Given the description of an element on the screen output the (x, y) to click on. 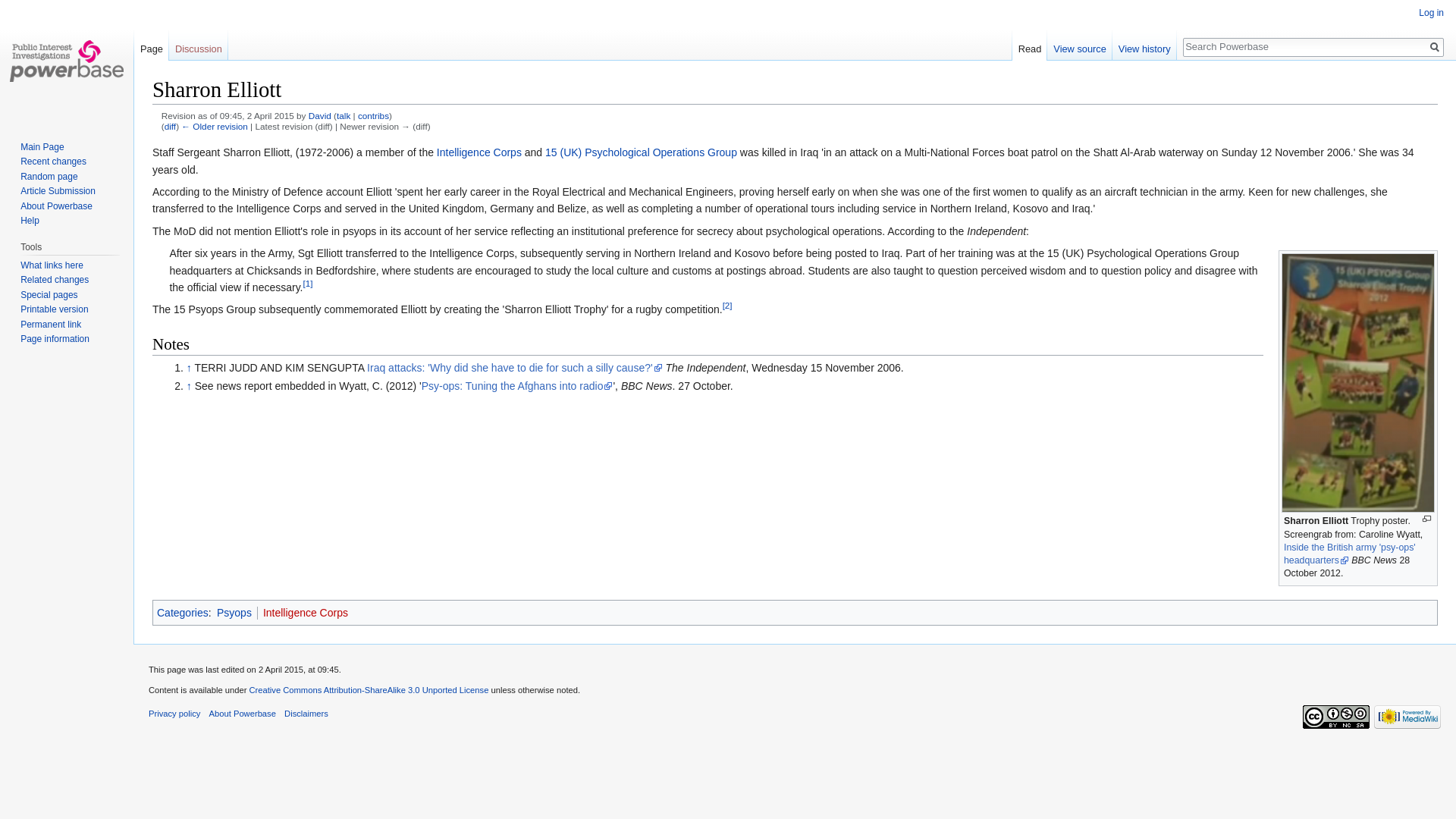
Random page (48, 176)
diff (170, 126)
Intelligence Corps (305, 612)
Psy-ops: Tuning the Afghans into radio (517, 386)
Sharron Elliott (1316, 520)
Inside the British army 'psy-ops' headquarters (1349, 553)
Category:Psyops (233, 612)
Psyops (233, 612)
Sharron Elliott (213, 126)
Go (1434, 46)
